Given the description of an element on the screen output the (x, y) to click on. 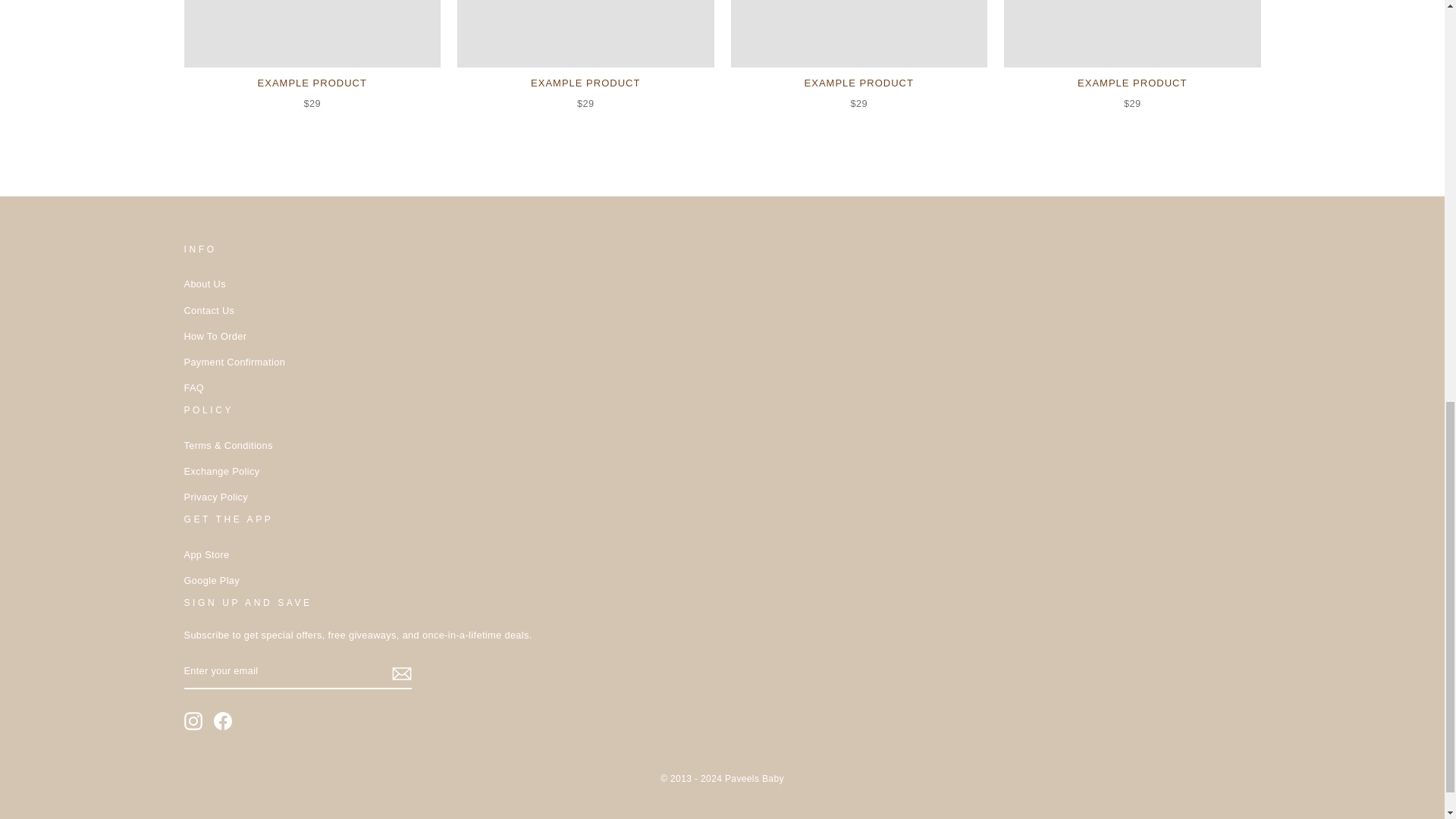
Paveels on Instagram (192, 720)
Paveels on Facebook (222, 720)
